Given the description of an element on the screen output the (x, y) to click on. 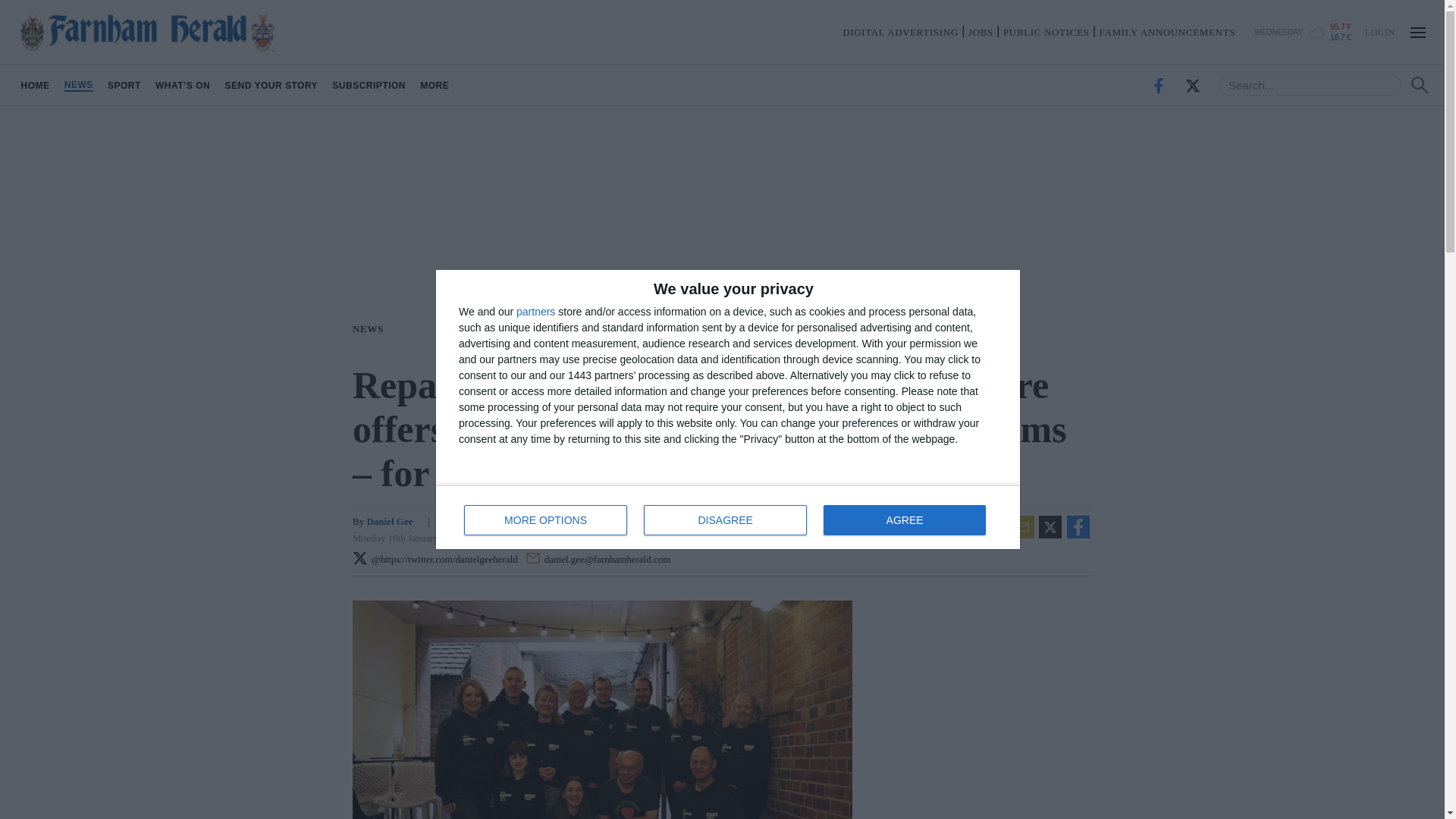
SEND YOUR STORY (270, 85)
DISAGREE (724, 520)
MORE OPTIONS (545, 520)
NEWS (371, 328)
SPORT (124, 85)
NEWS (78, 85)
partners (535, 311)
HOME (727, 516)
FAMILY ANNOUNCEMENTS (34, 85)
SUBSCRIPTION (1166, 32)
LOGIN (368, 85)
MORE (1379, 31)
Daniel Gee (435, 85)
AGREE (389, 521)
